Given the description of an element on the screen output the (x, y) to click on. 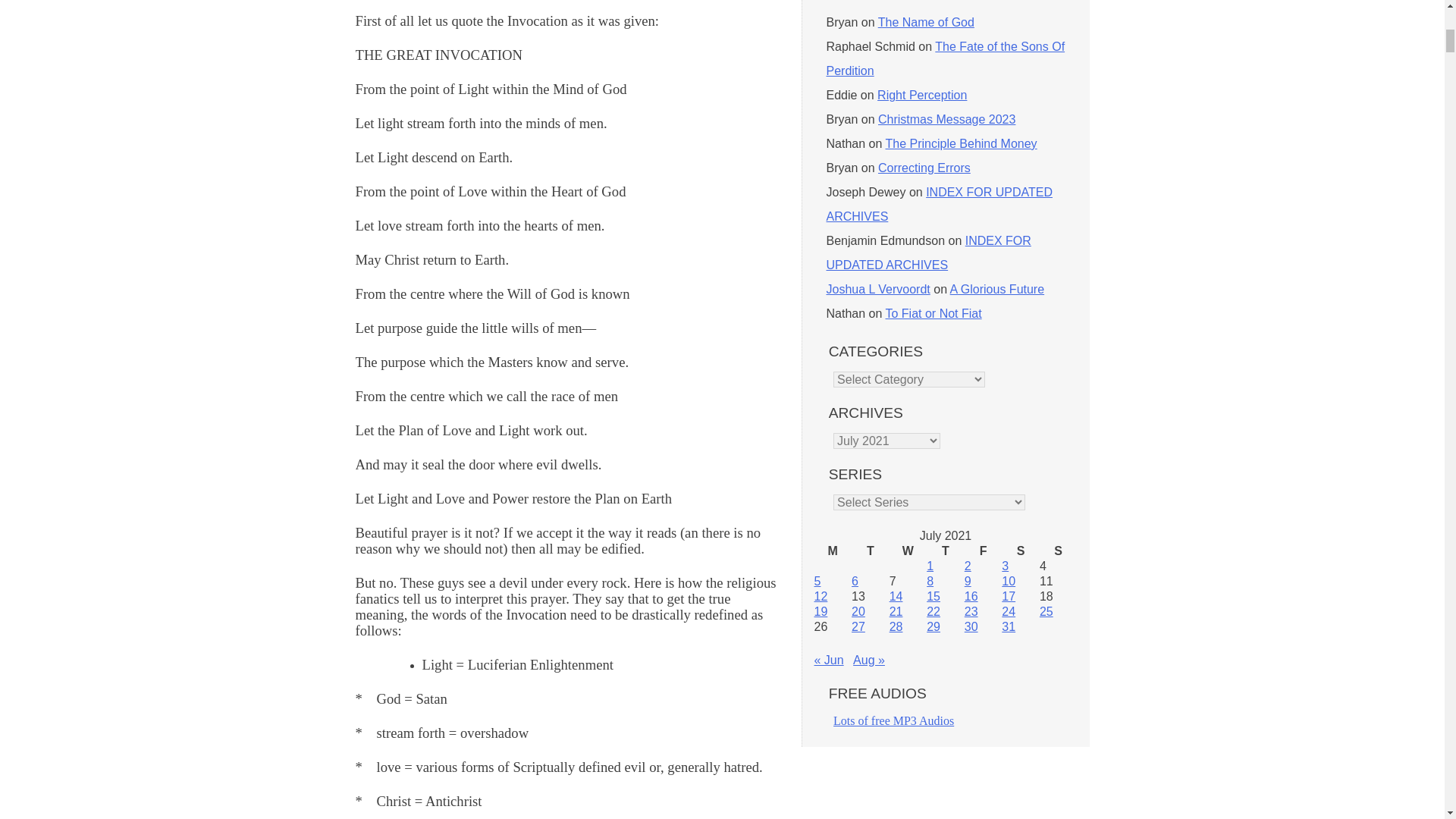
Thursday (944, 550)
Tuesday (870, 550)
Monday (832, 550)
Saturday (1020, 550)
Wednesday (908, 550)
Friday (983, 550)
Sunday (1058, 550)
